Given the description of an element on the screen output the (x, y) to click on. 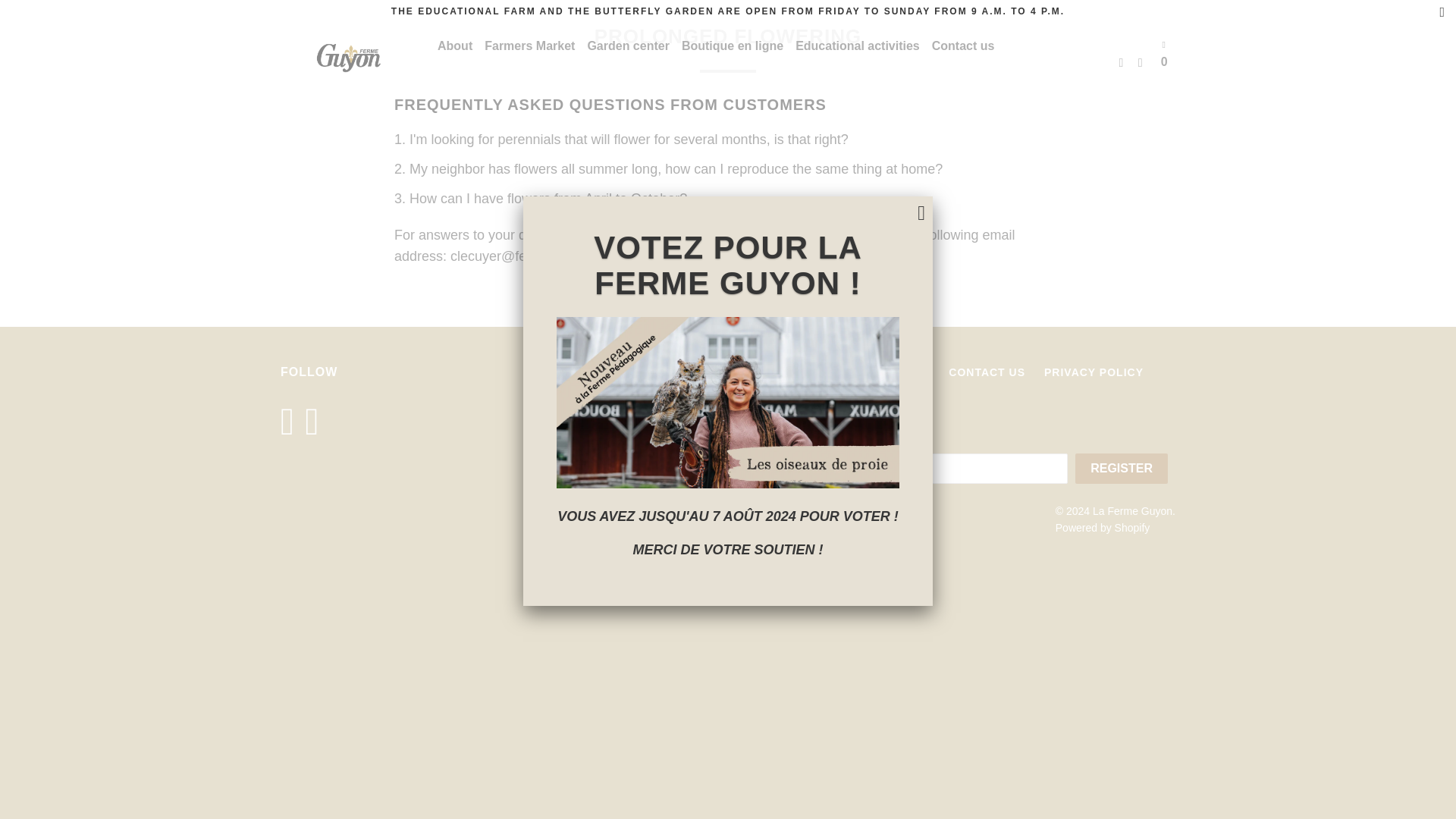
La Ferme Guyon (348, 57)
Register (1121, 468)
Farmers Market (529, 44)
Visa (860, 570)
Apple Pay (689, 570)
Google Pay (732, 570)
About (454, 44)
Mastercard (774, 570)
Shop Pay (817, 570)
Garden center (627, 44)
